Given the description of an element on the screen output the (x, y) to click on. 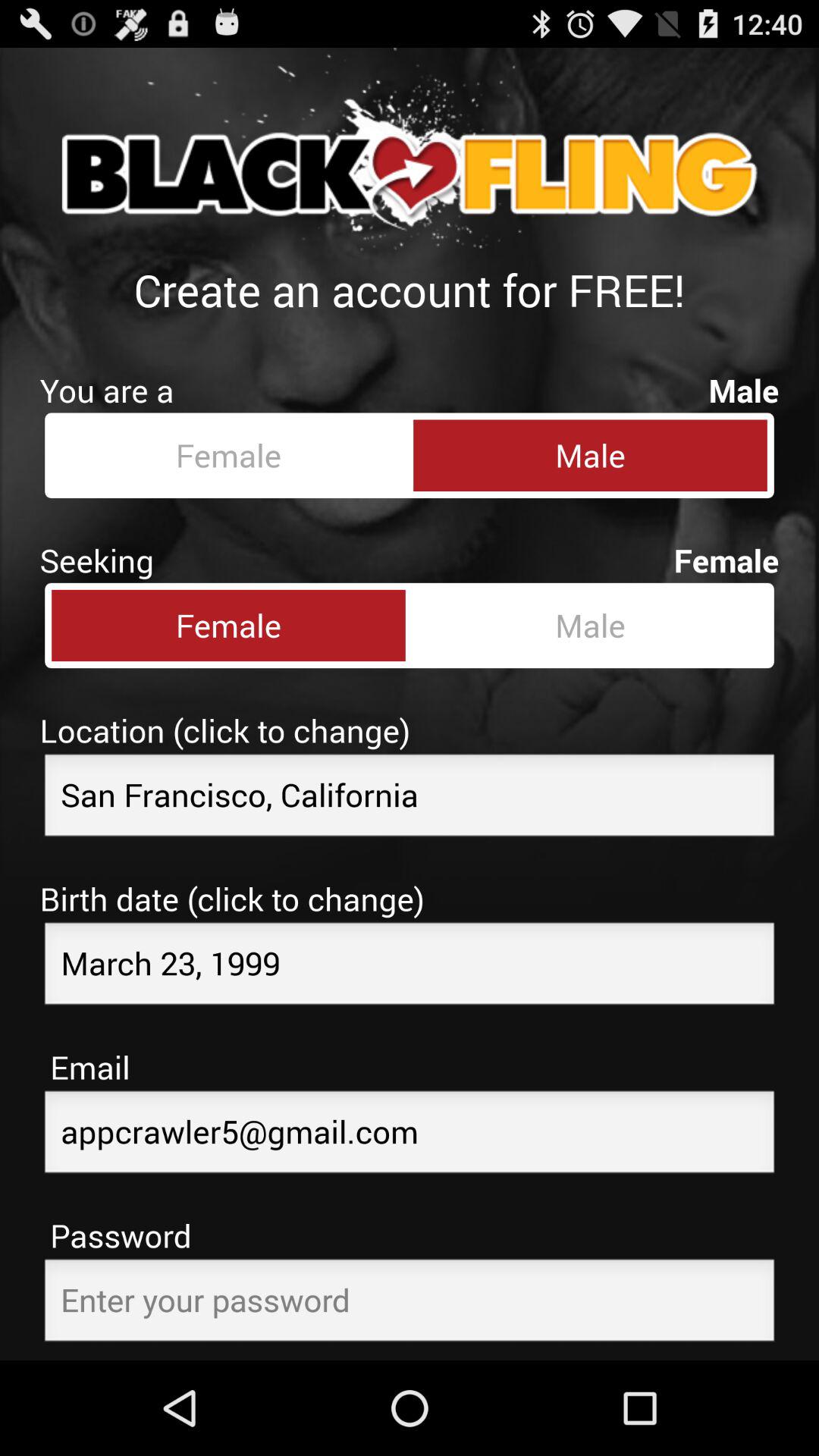
enter password (409, 1304)
